Given the description of an element on the screen output the (x, y) to click on. 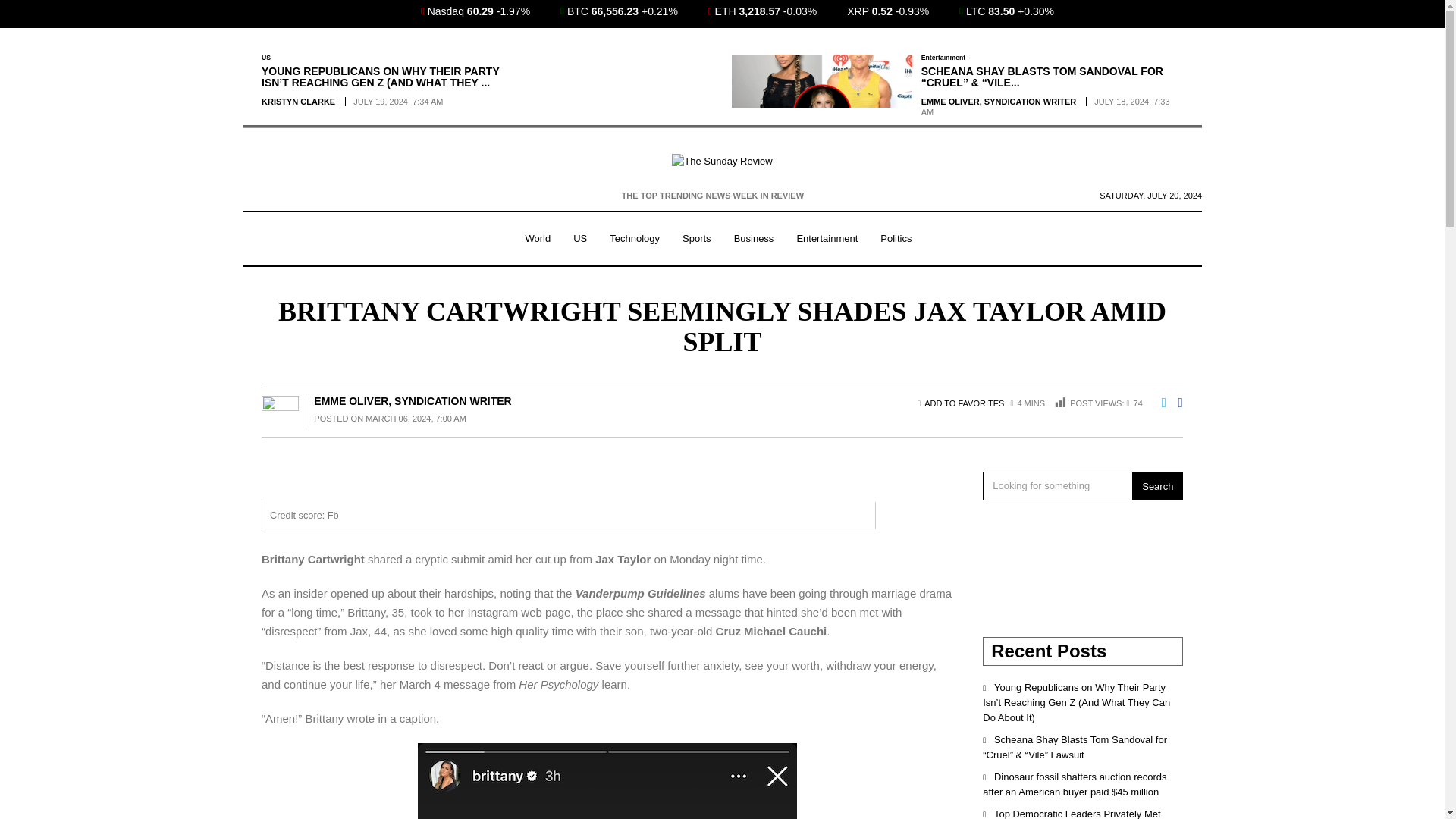
Search (1157, 485)
Entertainment (826, 238)
EMME OLIVER, SYNDICATION WRITER (999, 101)
Add to favorites (964, 402)
Posts by Kristyn Clarke (298, 101)
Entertainment (943, 57)
EMME OLIVER, SYNDICATION WRITER (412, 400)
Posts by Emme Oliver, Syndication Writer (999, 101)
US (266, 57)
ADD TO FAVORITES (964, 402)
KRISTYN CLARKE (298, 101)
Posts by Emme Oliver, Syndication Writer (412, 400)
Technology (634, 238)
View all posts in US (266, 57)
